Given the description of an element on the screen output the (x, y) to click on. 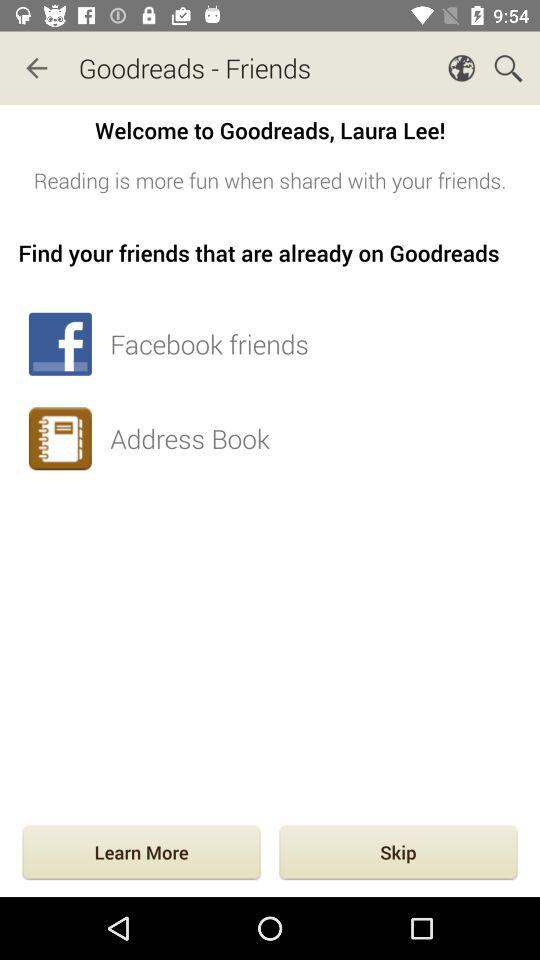
choose the icon next to the skip item (141, 854)
